Given the description of an element on the screen output the (x, y) to click on. 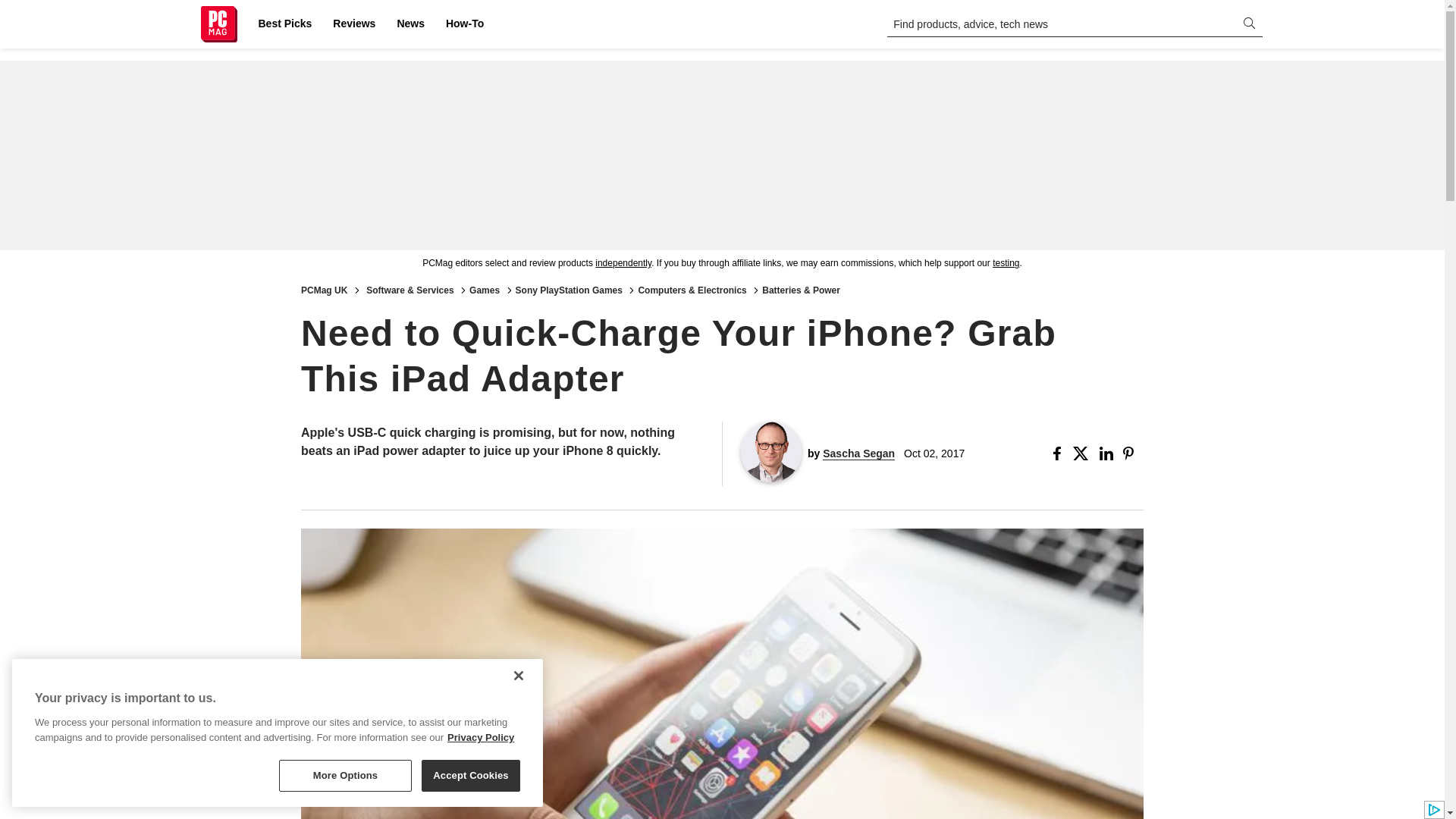
Share this Story on Linkedin (1107, 453)
Share this Story on Pinterest (1132, 453)
3rd party ad content (721, 155)
Share this Story on Facebook (1059, 453)
Best Picks (284, 24)
Share this Story on X (1083, 453)
